Given the description of an element on the screen output the (x, y) to click on. 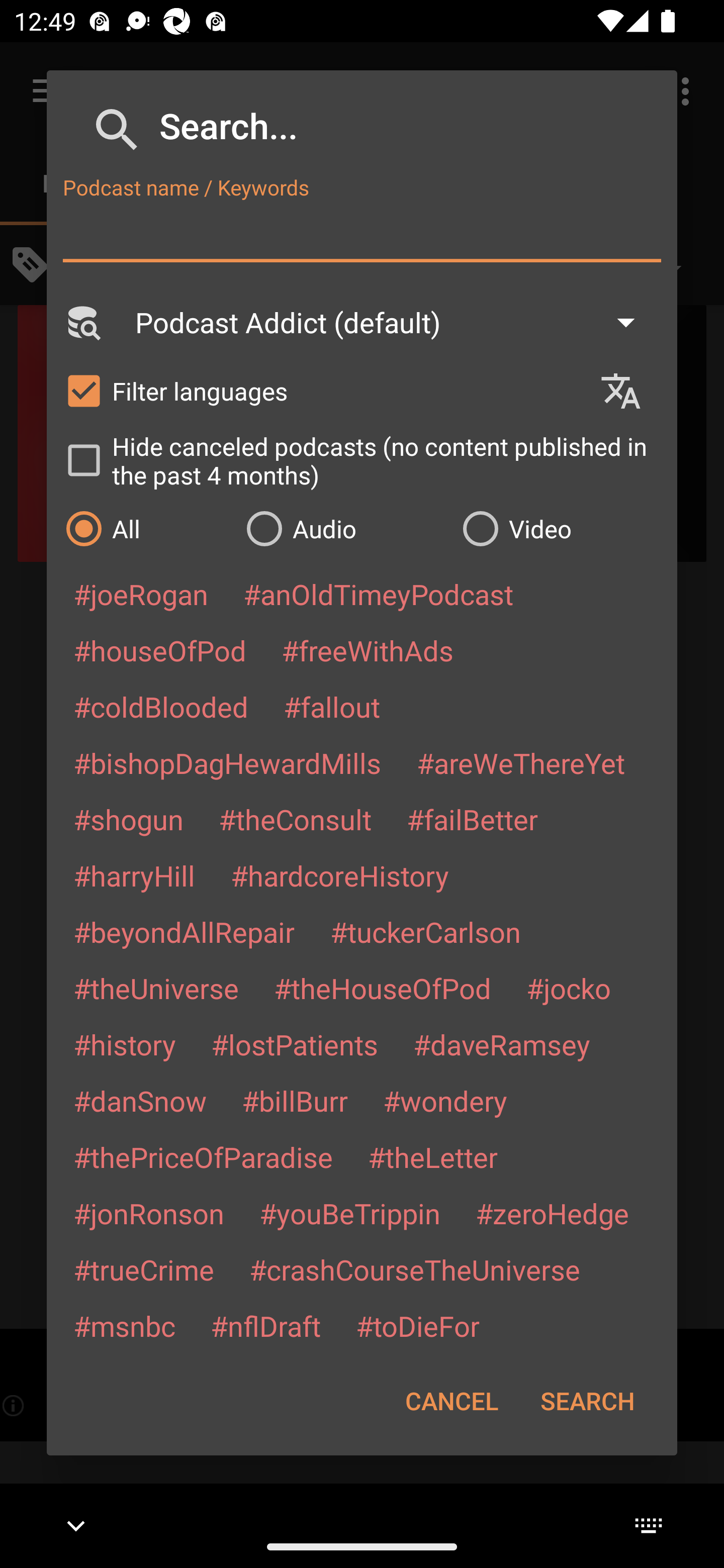
Podcast name / Keywords (361, 234)
Search Engine (82, 322)
Podcast Addict (default) (394, 322)
Languages selection (629, 390)
Filter languages (322, 390)
All (145, 528)
Audio (344, 528)
Video (560, 528)
#joeRogan (140, 594)
#anOldTimeyPodcast (378, 594)
#houseOfPod (159, 650)
#freeWithAds (367, 650)
#coldBlooded (160, 705)
#fallout (331, 705)
#bishopDagHewardMills (227, 762)
#areWeThereYet (521, 762)
#shogun (128, 818)
#theConsult (294, 818)
#failBetter (471, 818)
#harryHill (134, 875)
#hardcoreHistory (339, 875)
#beyondAllRepair (184, 931)
#tuckerCarlson (425, 931)
#theUniverse (155, 987)
#theHouseOfPod (381, 987)
#jocko (568, 987)
#history (124, 1044)
#lostPatients (294, 1044)
#daveRamsey (501, 1044)
#danSnow (139, 1100)
#billBurr (294, 1100)
#wondery (444, 1100)
#thePriceOfParadise (203, 1157)
#theLetter (432, 1157)
#jonRonson (148, 1213)
#youBeTrippin (349, 1213)
#zeroHedge (552, 1213)
#trueCrime (143, 1268)
#crashCourseTheUniverse (414, 1268)
#msnbc (124, 1325)
#nflDraft (265, 1325)
#toDieFor (417, 1325)
CANCEL (451, 1400)
SEARCH (587, 1400)
